Given the description of an element on the screen output the (x, y) to click on. 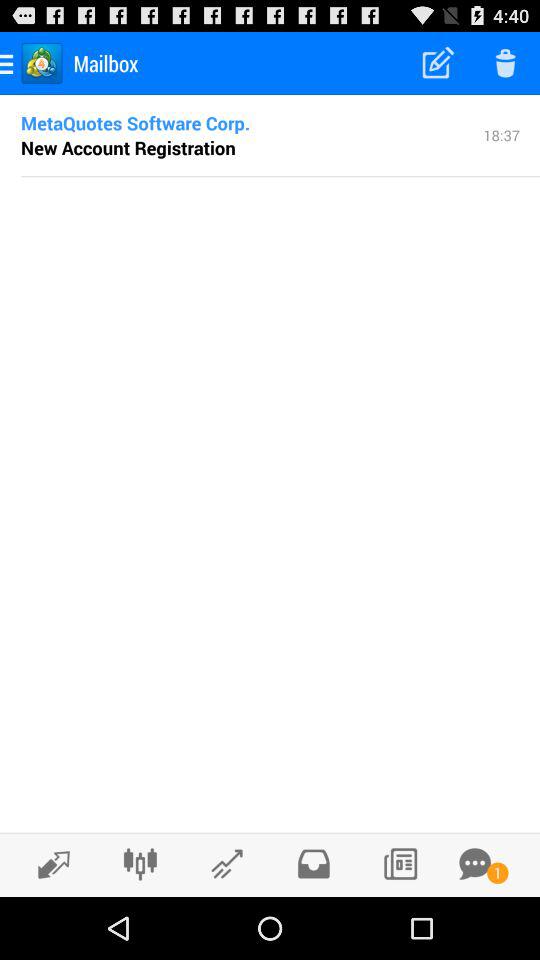
swipe until the new account registration (128, 147)
